Given the description of an element on the screen output the (x, y) to click on. 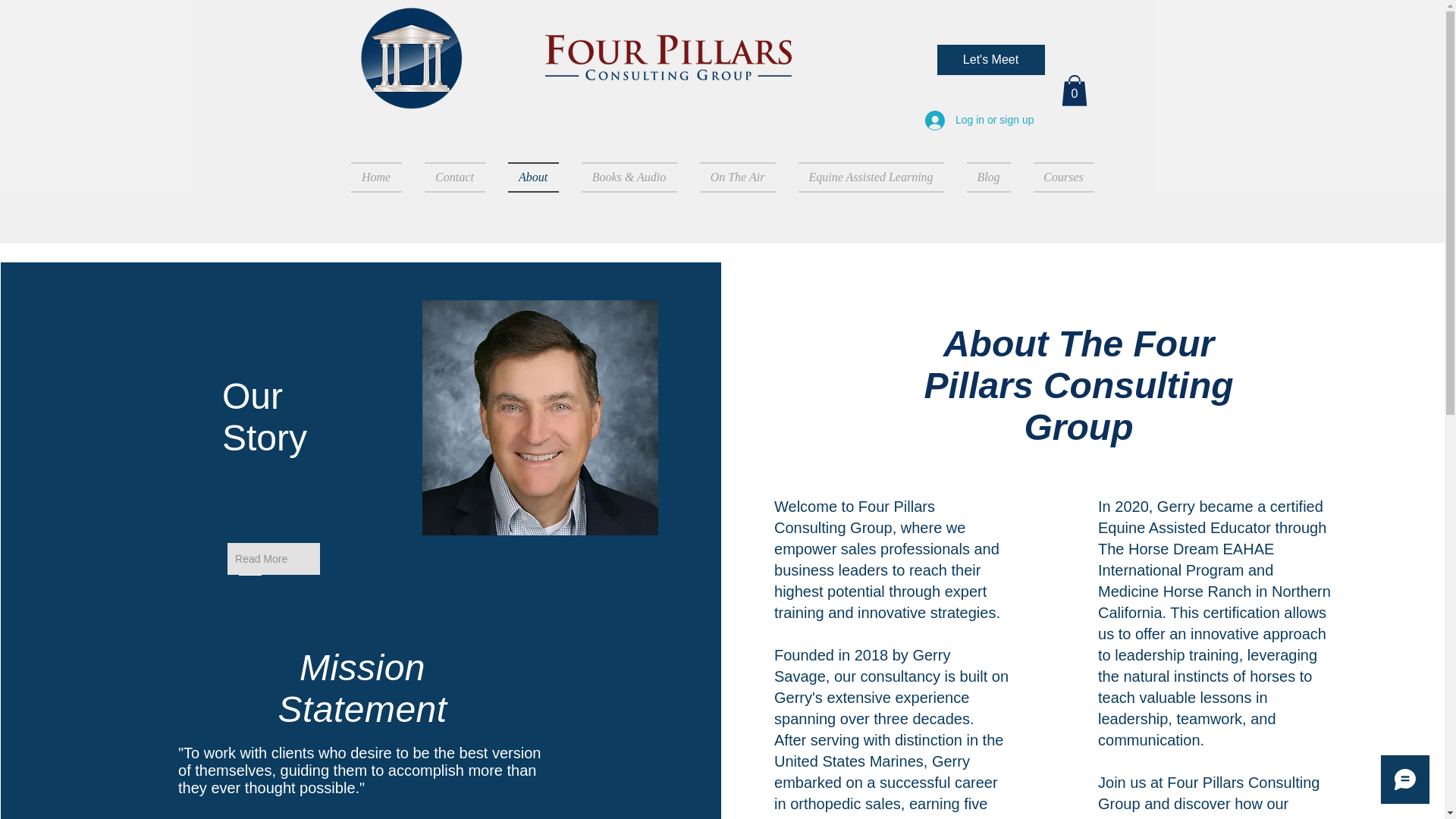
Home (381, 177)
About (532, 177)
Contact (454, 177)
Courses (1058, 177)
Blog (988, 177)
Let's Meet (991, 60)
Read More (273, 558)
Log in or sign up (979, 120)
On The Air (737, 177)
